Given the description of an element on the screen output the (x, y) to click on. 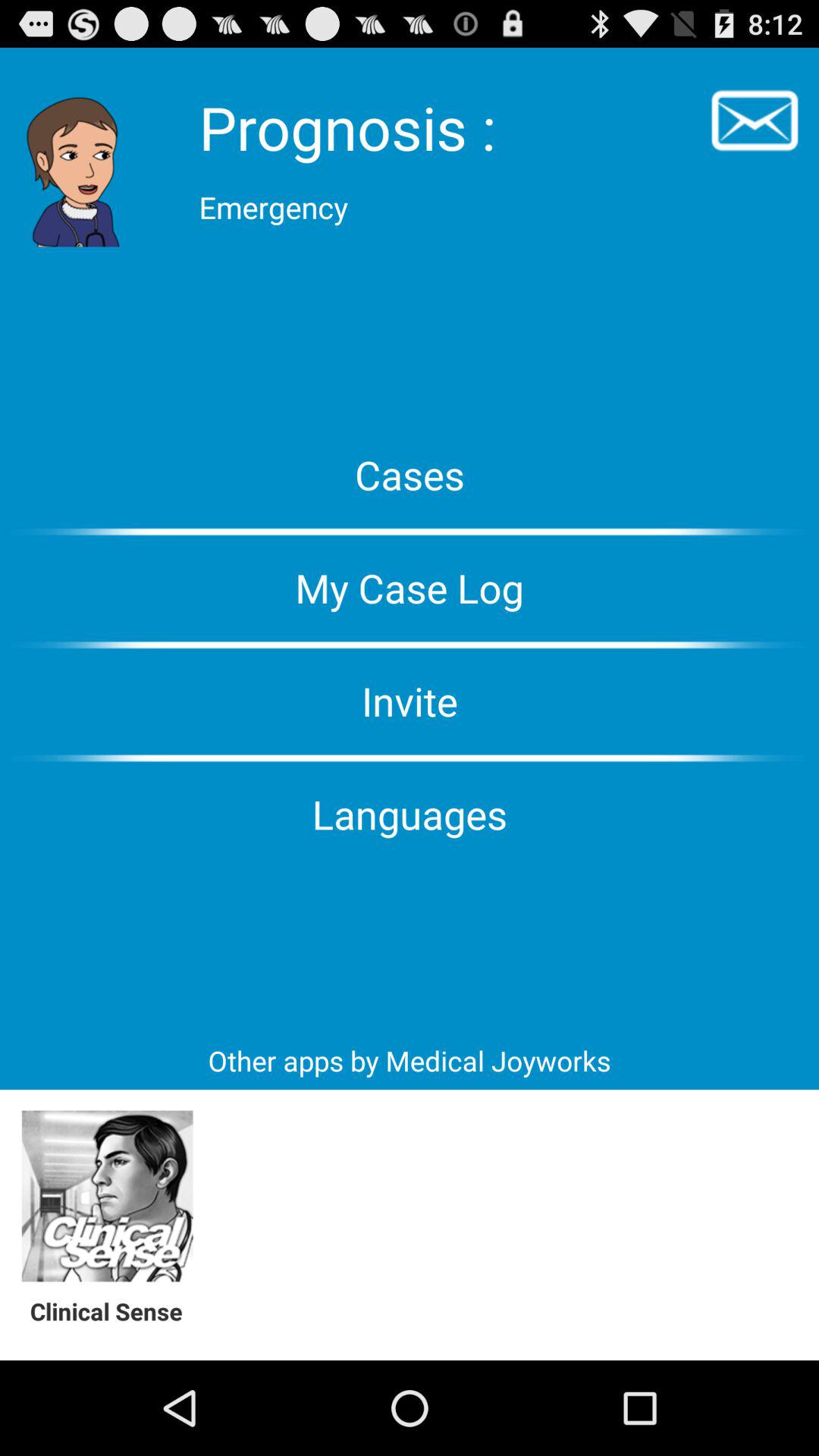
select the my case log (409, 587)
